Given the description of an element on the screen output the (x, y) to click on. 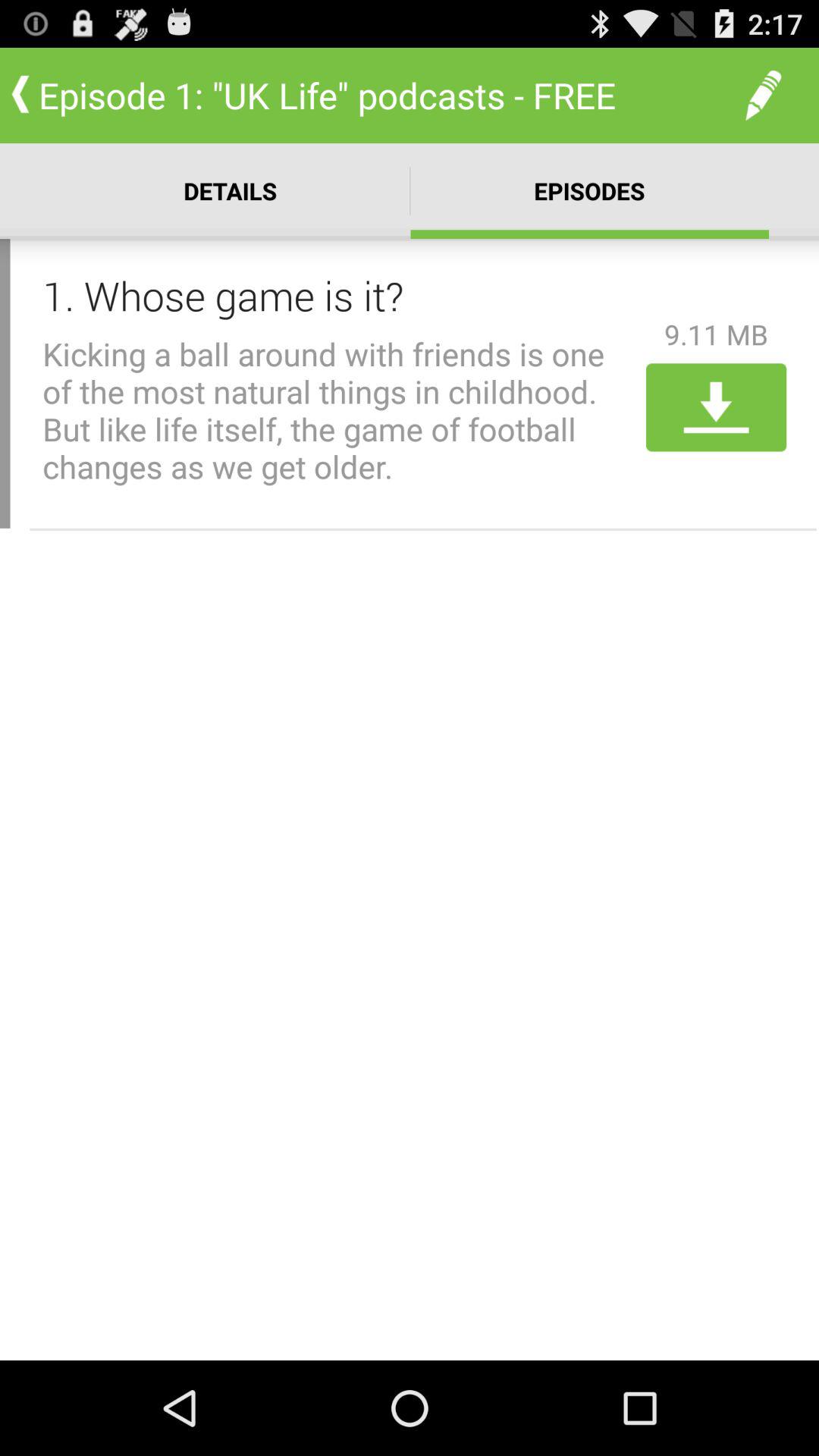
turn on 1 whose game icon (338, 295)
